Given the description of an element on the screen output the (x, y) to click on. 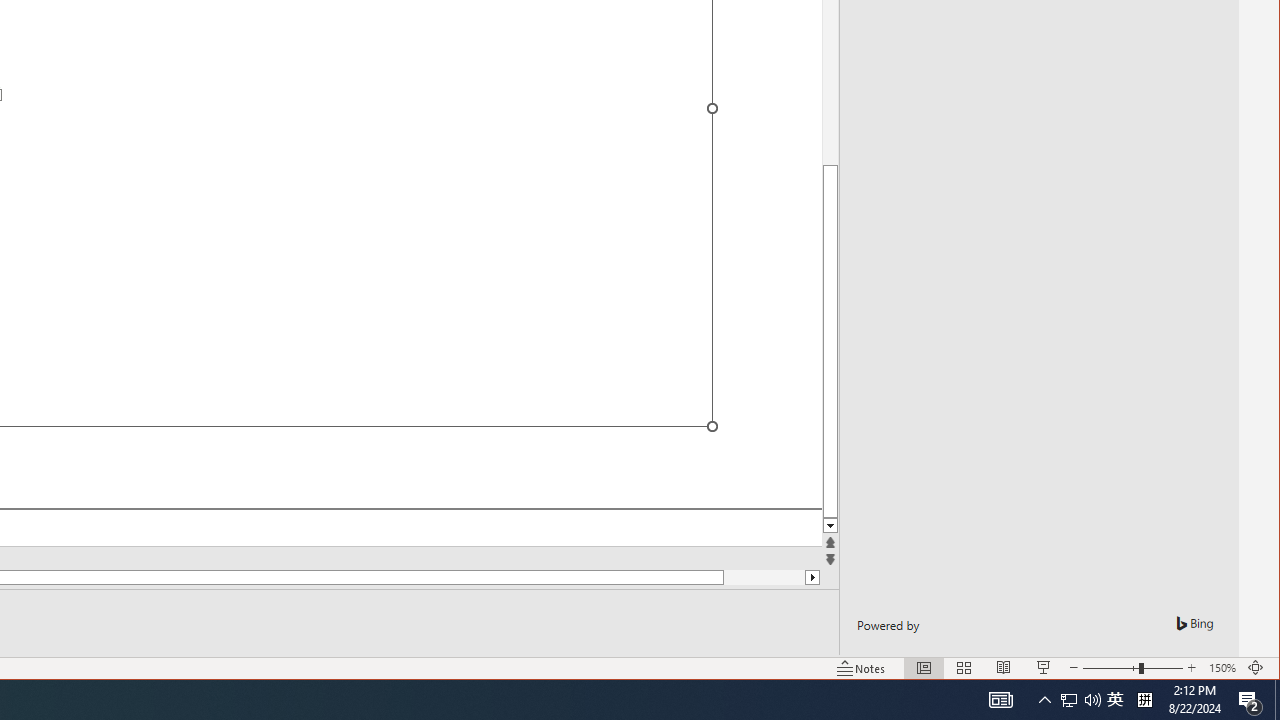
Zoom 150% (1222, 668)
